Given the description of an element on the screen output the (x, y) to click on. 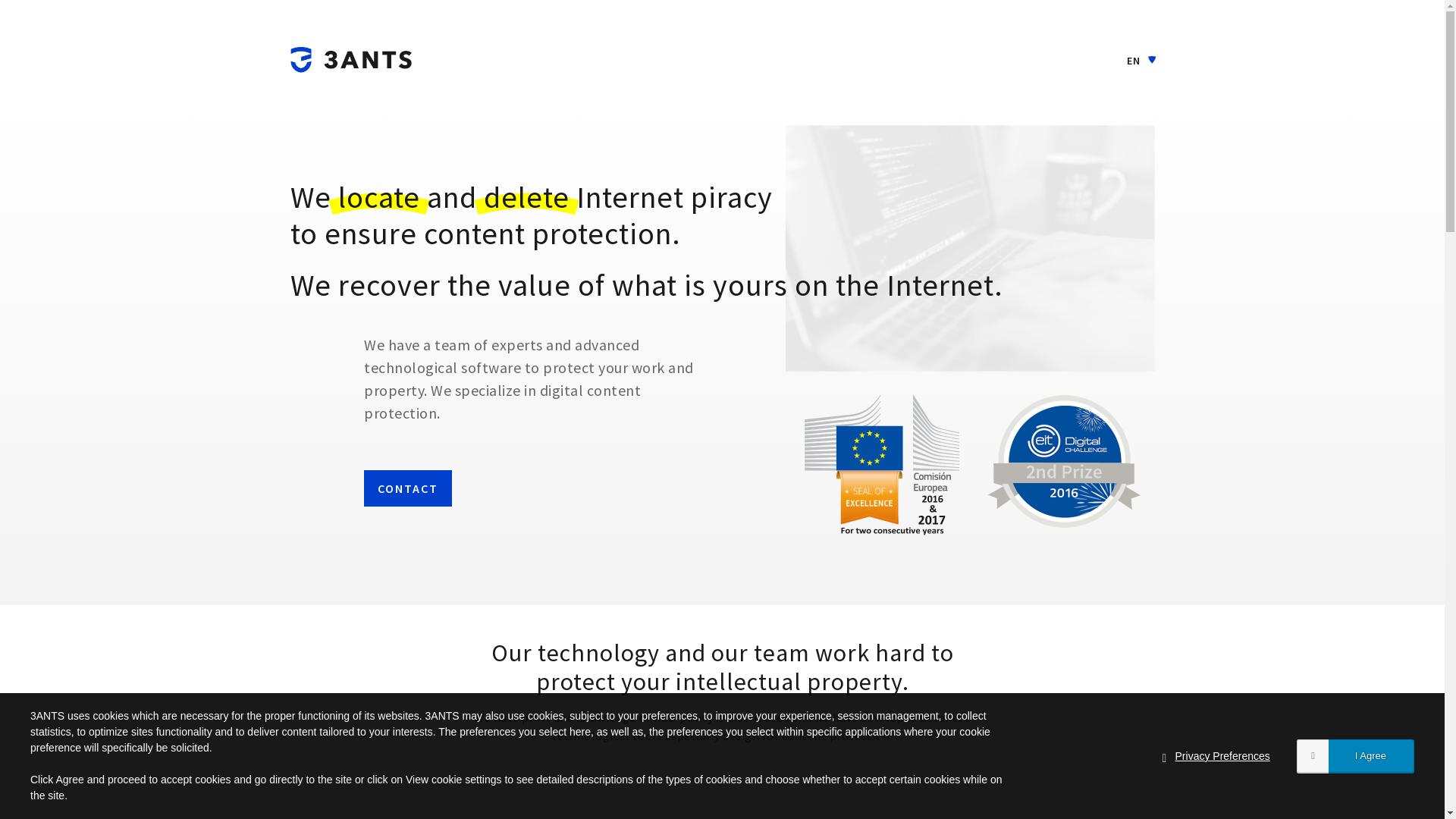
CONTACT Element type: text (407, 488)
EN Element type: text (1141, 52)
I Agree Element type: text (1355, 756)
Privacy Preferences Element type: text (1222, 756)
